Given the description of an element on the screen output the (x, y) to click on. 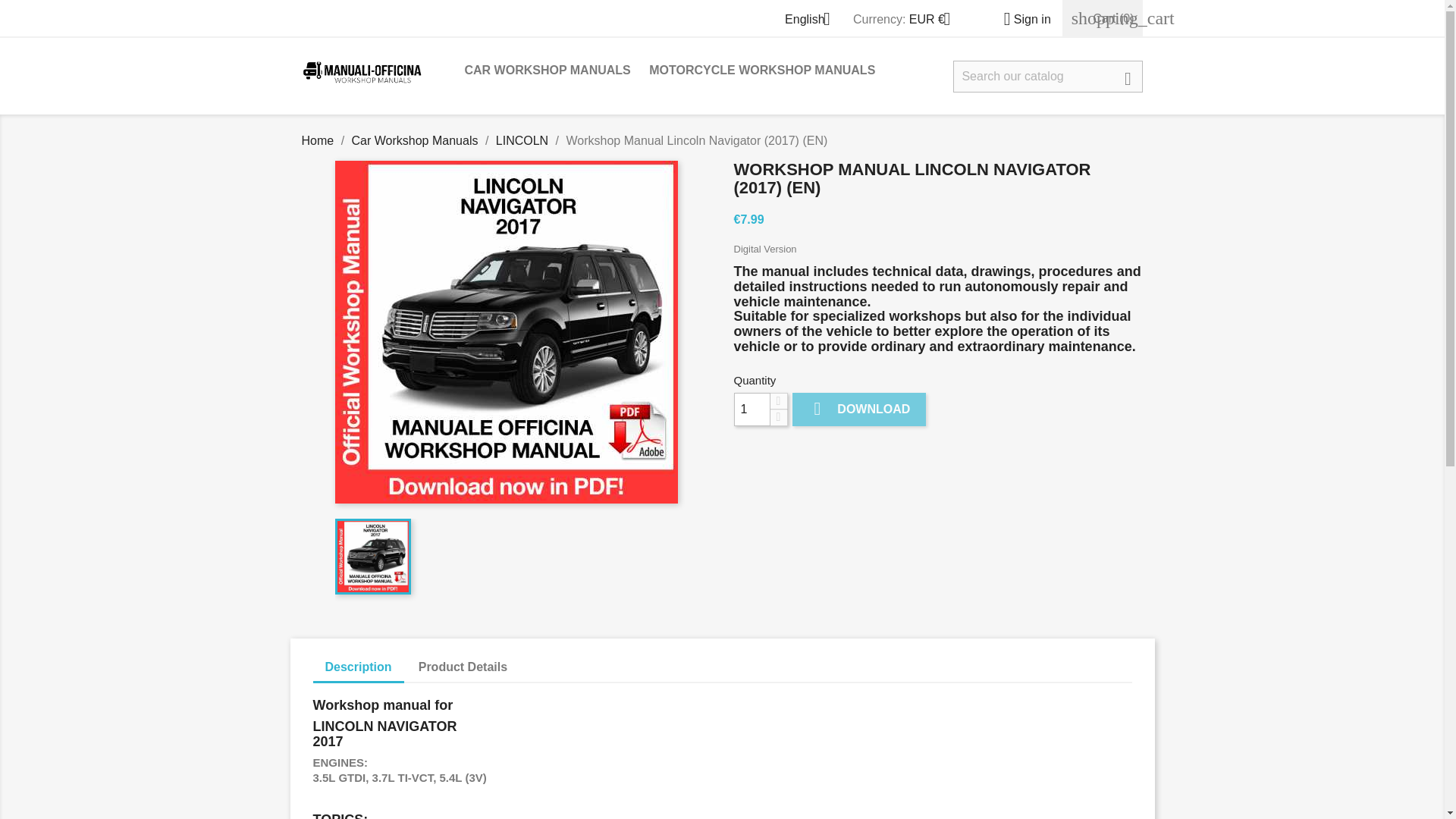
PayPal (809, 452)
Workshop Manual Lincoln Navigator (506, 331)
Log in to your customer account (1020, 19)
CAR WORKSHOP MANUALS (547, 71)
Workshop Manual Lincoln Navigator (372, 556)
1 (751, 409)
